Given the description of an element on the screen output the (x, y) to click on. 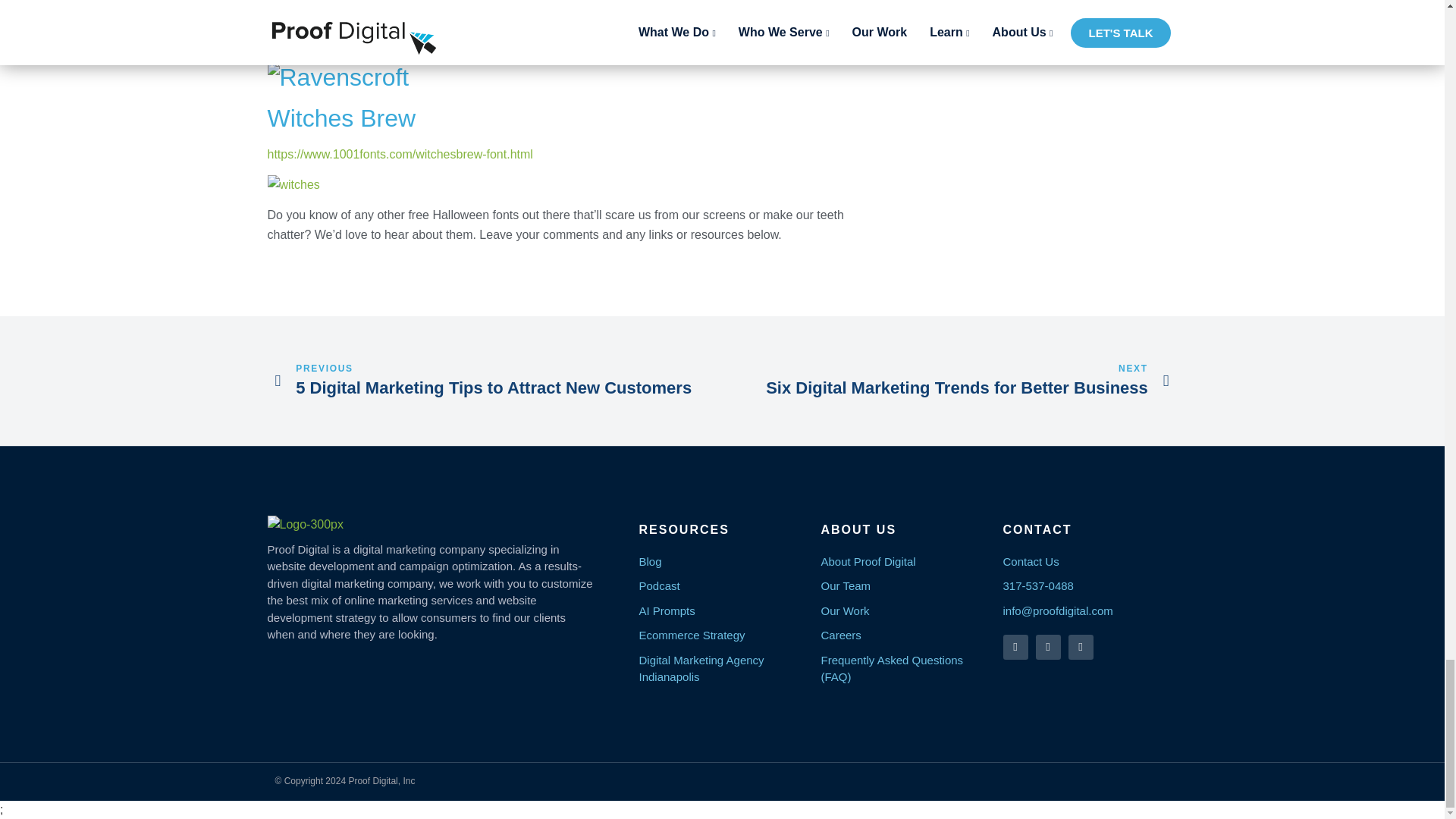
Logo-300px (304, 524)
